Given the description of an element on the screen output the (x, y) to click on. 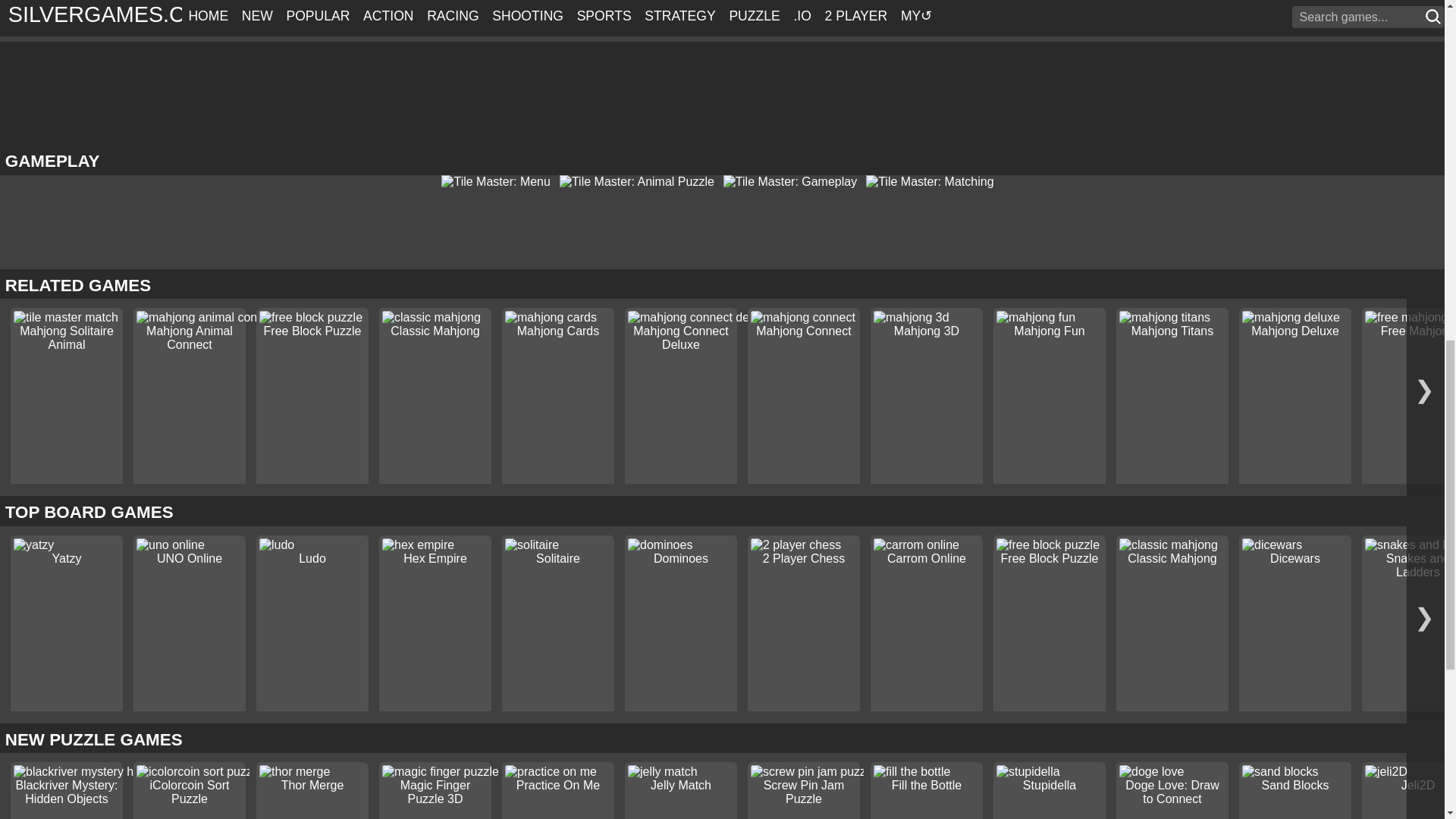
Mahjong Cards (557, 330)
Tile Master: Gameplay (794, 181)
Tile Master: Menu (500, 181)
Classic Mahjong (434, 330)
Tile Master: Matching (934, 181)
Tile Master: Animal Puzzle (641, 181)
Mahjong Connect Deluxe (680, 337)
Mahjong Animal Connect (189, 337)
Mahjong Solitaire Animal (66, 337)
Free Block Puzzle (312, 330)
